Given the description of an element on the screen output the (x, y) to click on. 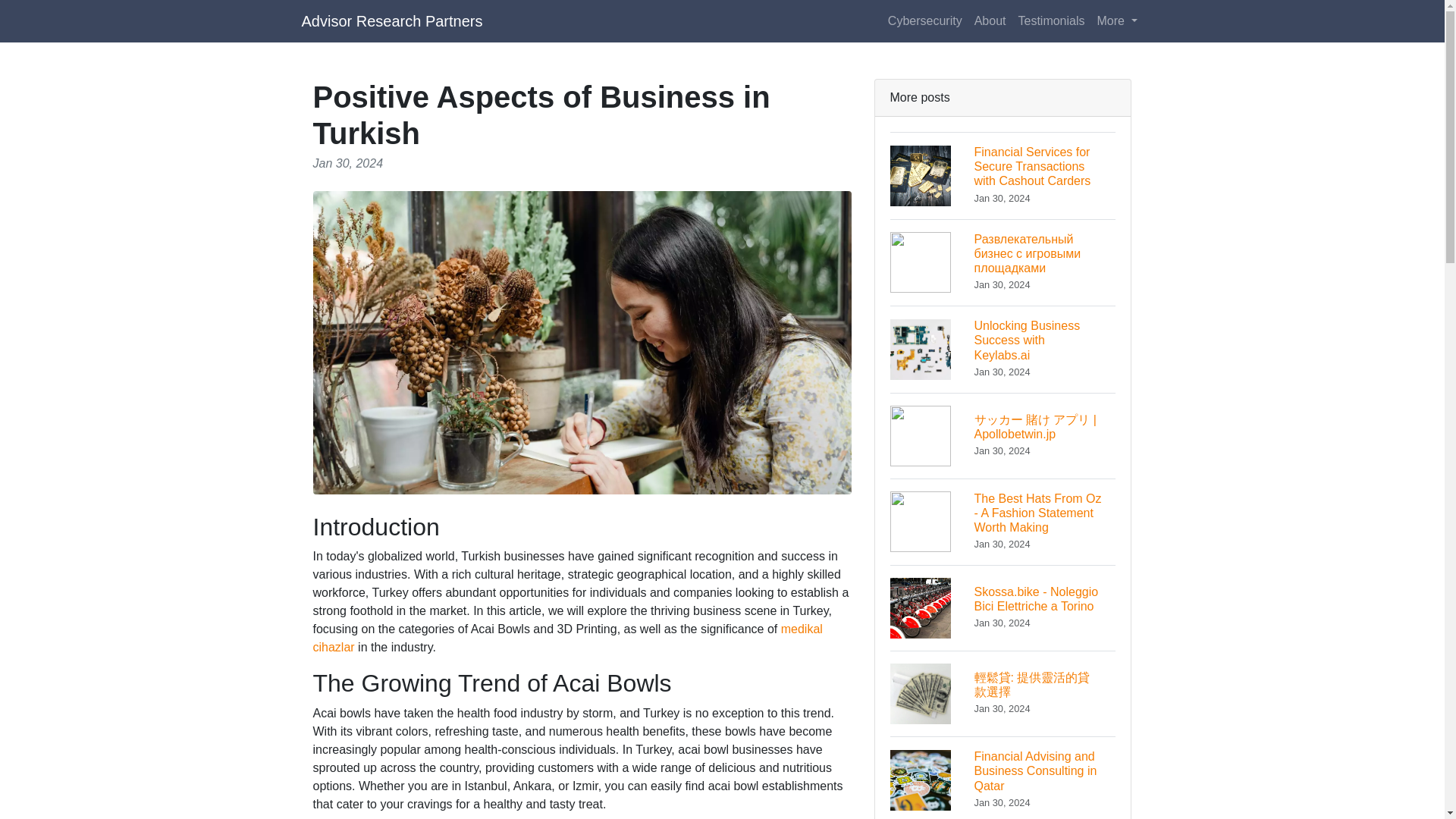
About (989, 20)
Testimonials (1002, 607)
medikal cihazlar (1002, 349)
Cybersecurity (1050, 20)
Advisor Research Partners (567, 637)
